Given the description of an element on the screen output the (x, y) to click on. 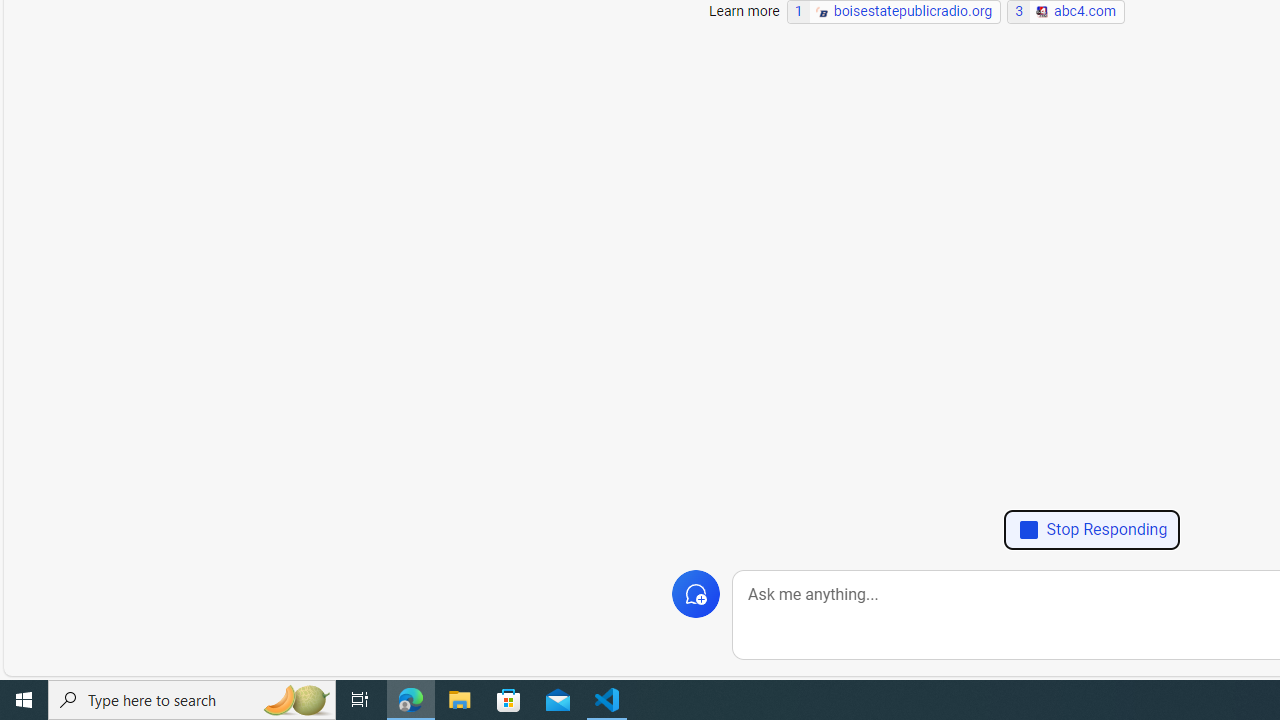
New topic (695, 593)
Stop Responding (1092, 529)
